Given the description of an element on the screen output the (x, y) to click on. 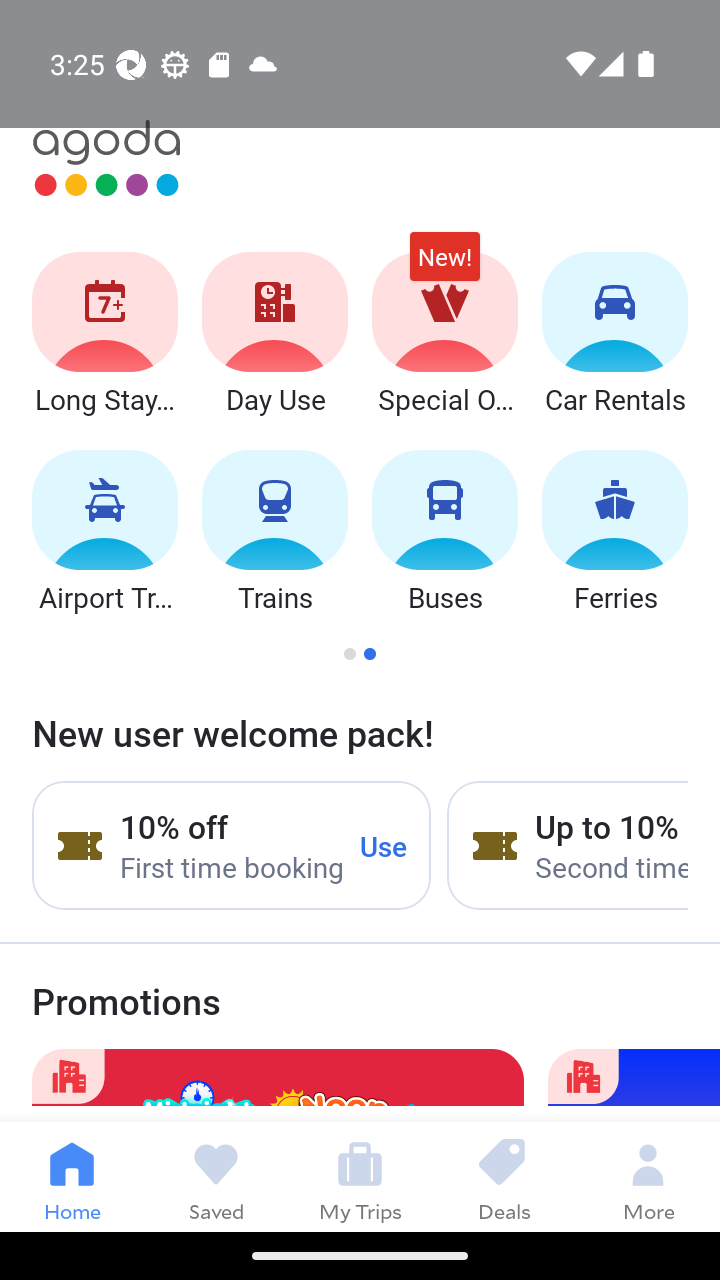
New! (444, 265)
Use (384, 845)
Home (72, 1176)
Saved (216, 1176)
My Trips (360, 1176)
Deals (504, 1176)
More (648, 1176)
